Given the description of an element on the screen output the (x, y) to click on. 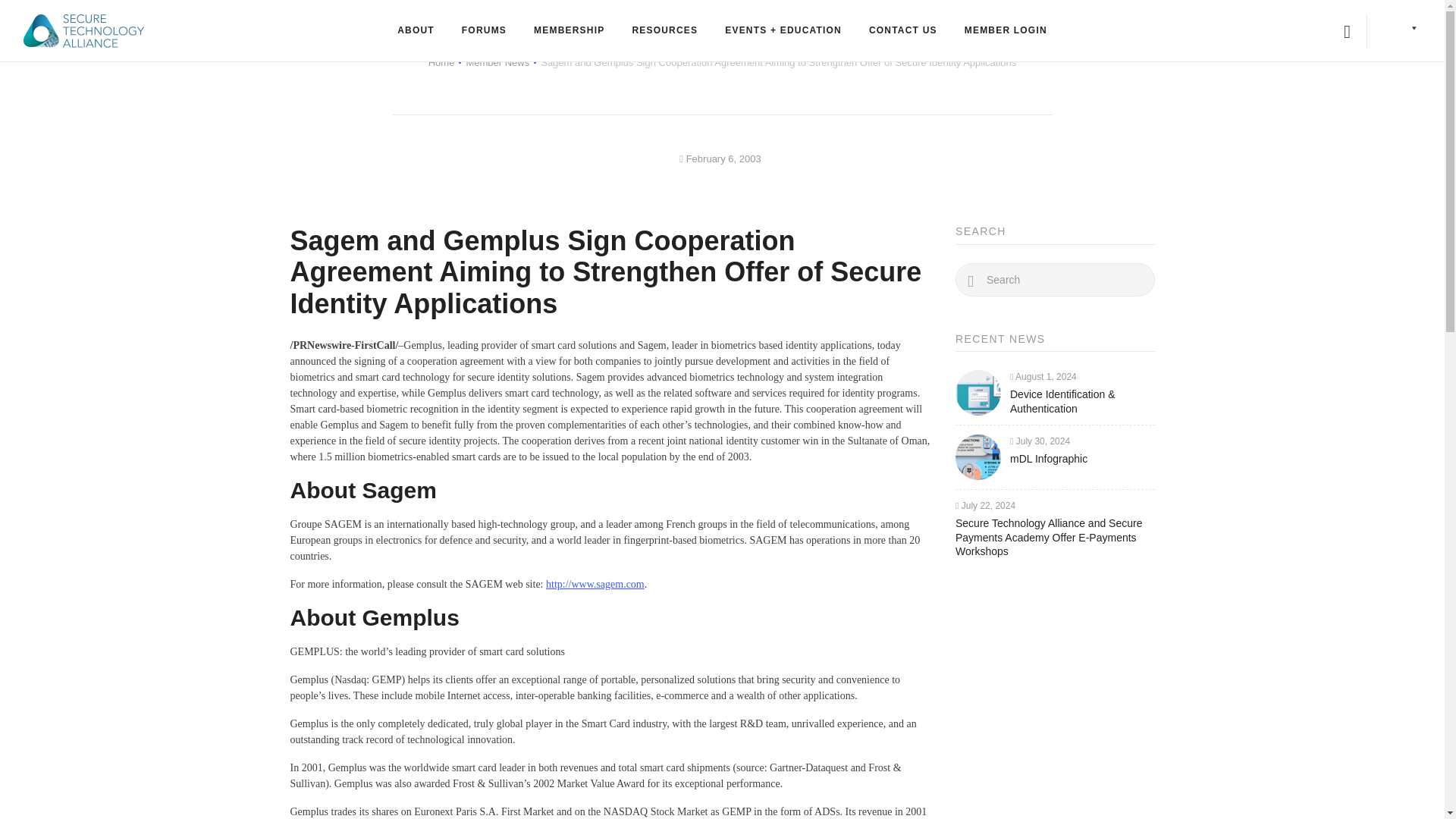
Go to Secure Technology Alliance. (441, 61)
Go to the Member News category archives. (497, 61)
